Given the description of an element on the screen output the (x, y) to click on. 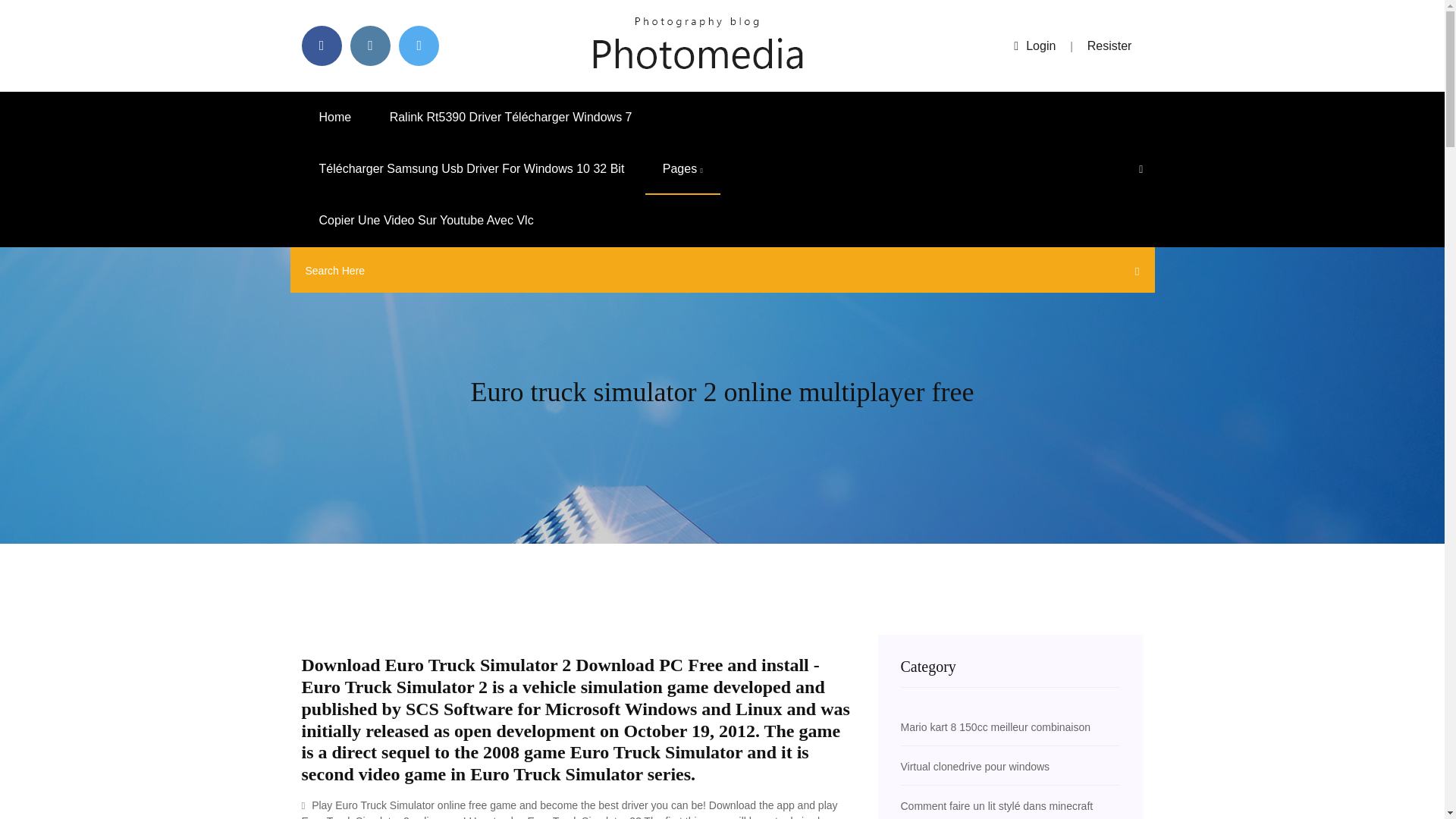
Resister (1109, 45)
Login (1034, 45)
Pages (682, 168)
Home (335, 117)
Close Search (1132, 274)
Copier Une Video Sur Youtube Avec Vlc (426, 220)
